Given the description of an element on the screen output the (x, y) to click on. 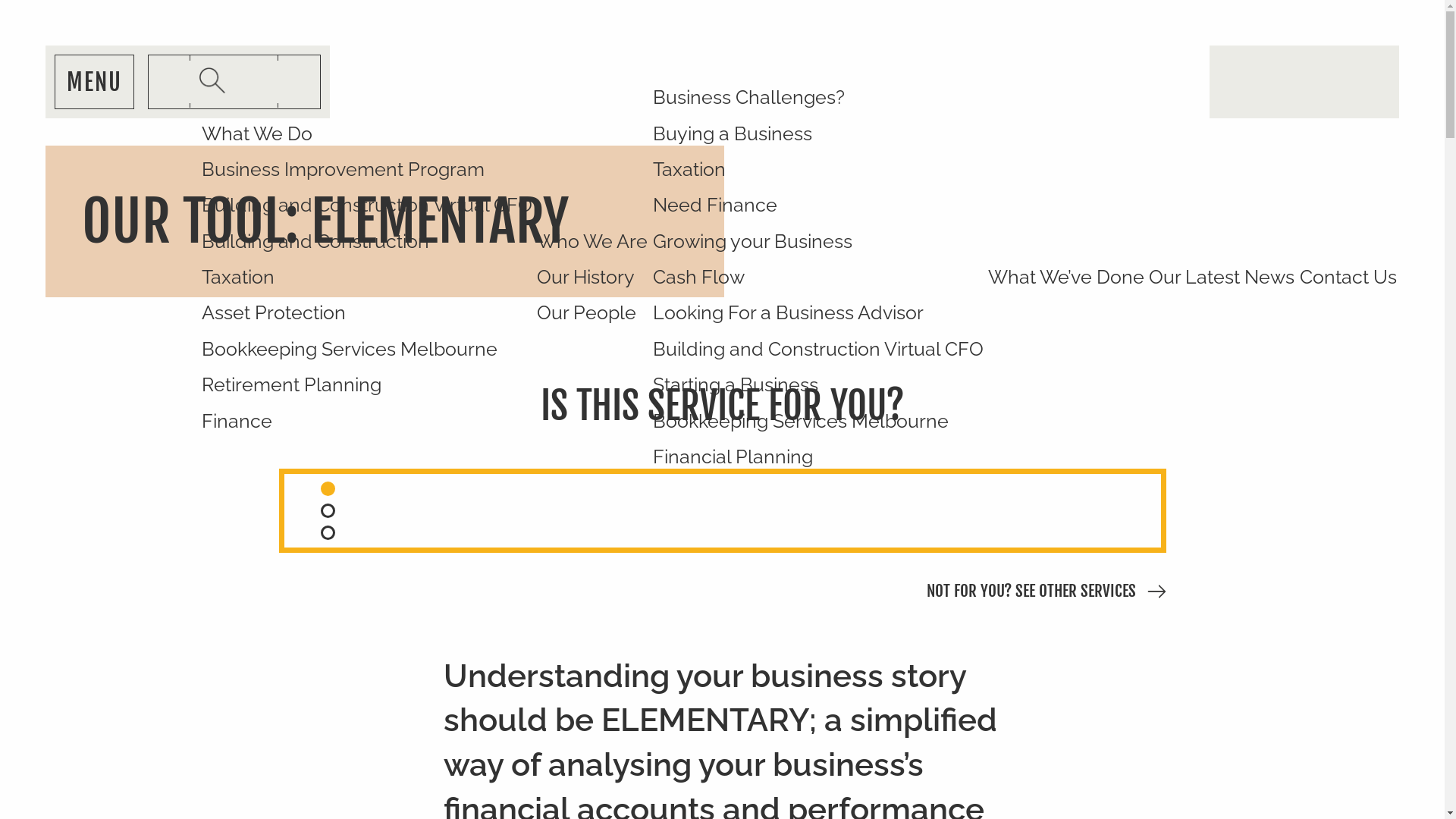
Buying a Business Element type: text (817, 132)
Who We Are Element type: text (591, 240)
Bookkeeping Services Melbourne Element type: text (366, 349)
Growing your Business Element type: text (817, 240)
Slide Element type: text (327, 532)
Our History Element type: text (591, 276)
Cash Flow Element type: text (817, 276)
Slide Element type: text (327, 488)
Business Challenges? Element type: text (817, 97)
Business Improvement Program Element type: text (366, 169)
Building and Construction Virtual CFO Element type: text (817, 349)
What We Do Element type: text (366, 132)
Building and Construction Virtual CFO Element type: text (366, 204)
Slide Element type: text (327, 510)
Building and Construction Element type: text (366, 240)
NOT FOR YOU? SEE OTHER SERVICES Element type: text (1030, 591)
Looking For a Business Advisor Element type: text (817, 312)
Starting a Business Element type: text (817, 384)
Need Finance Element type: text (817, 204)
Contact Us Element type: text (1348, 276)
Asset Protection Element type: text (366, 312)
Taxation Element type: text (366, 276)
Our Latest News Element type: text (1221, 276)
Finance Element type: text (366, 420)
Our People Element type: text (591, 312)
Retirement Planning Element type: text (366, 384)
Financial Planning Element type: text (817, 456)
Taxation Element type: text (817, 169)
Bookkeeping Services Melbourne Element type: text (817, 420)
